Given the description of an element on the screen output the (x, y) to click on. 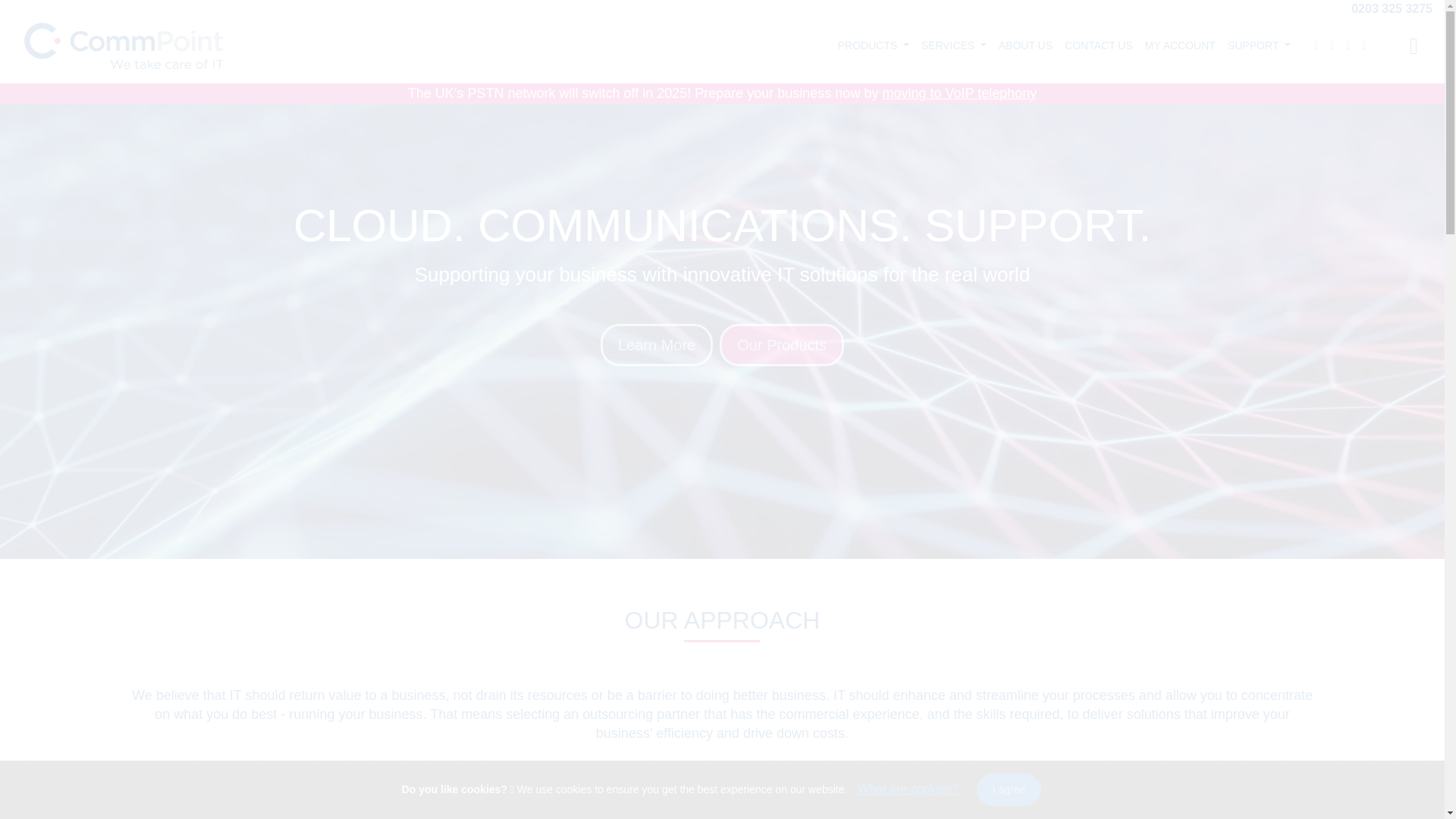
SERVICES (953, 45)
Learn More (656, 344)
SUPPORT (1259, 45)
CONTACT US (1098, 45)
MY ACCOUNT (1179, 45)
moving to VoIP telephony (959, 92)
Our Products (781, 344)
ABOUT US (1025, 45)
PRODUCTS (873, 45)
